Given the description of an element on the screen output the (x, y) to click on. 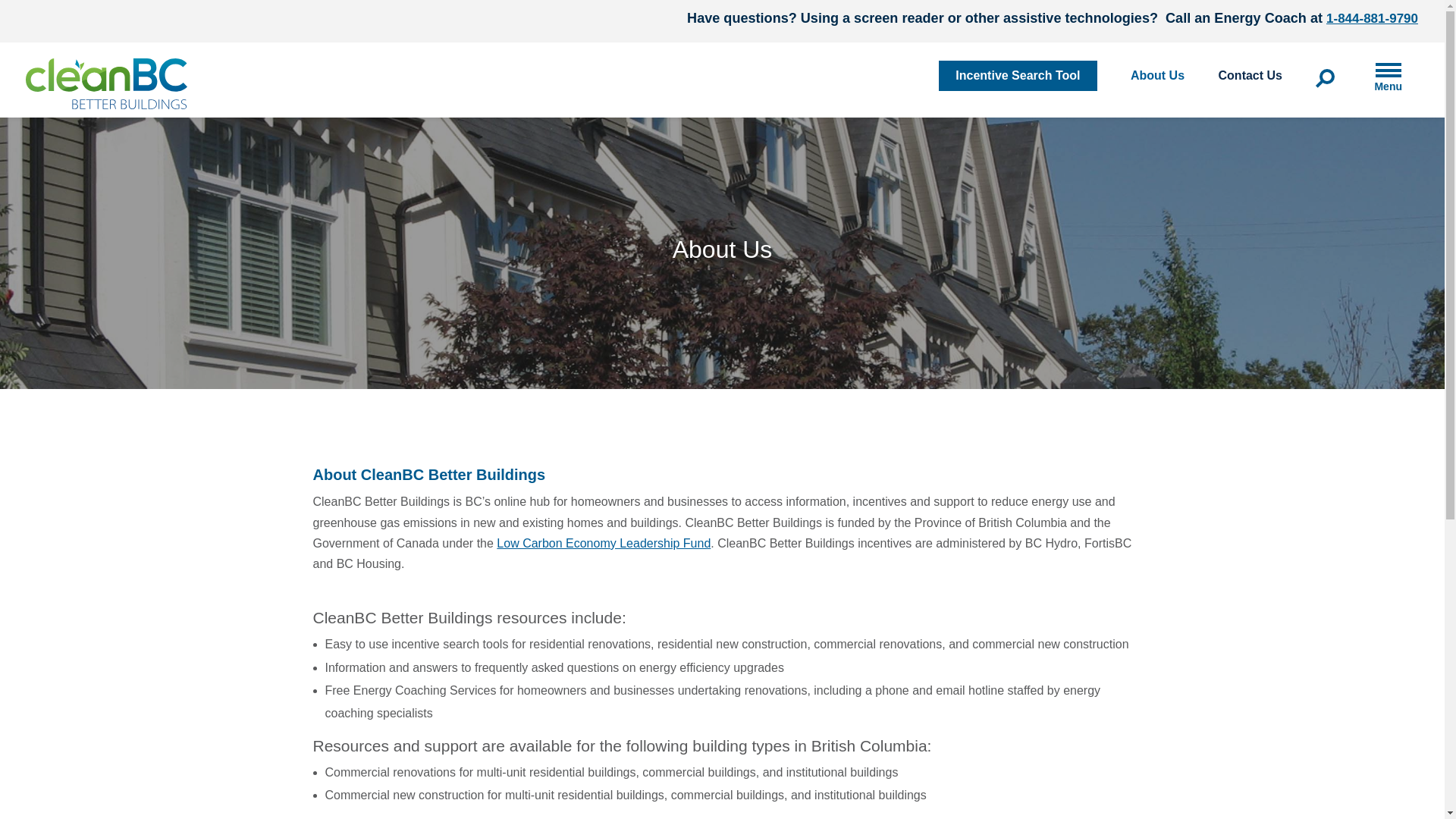
About Us (1158, 75)
1-844-881-9790 (1372, 18)
Contact Us (1250, 75)
Incentive Search Tool (1017, 75)
Low Carbon Economy Leadership Fund (603, 543)
